Given the description of an element on the screen output the (x, y) to click on. 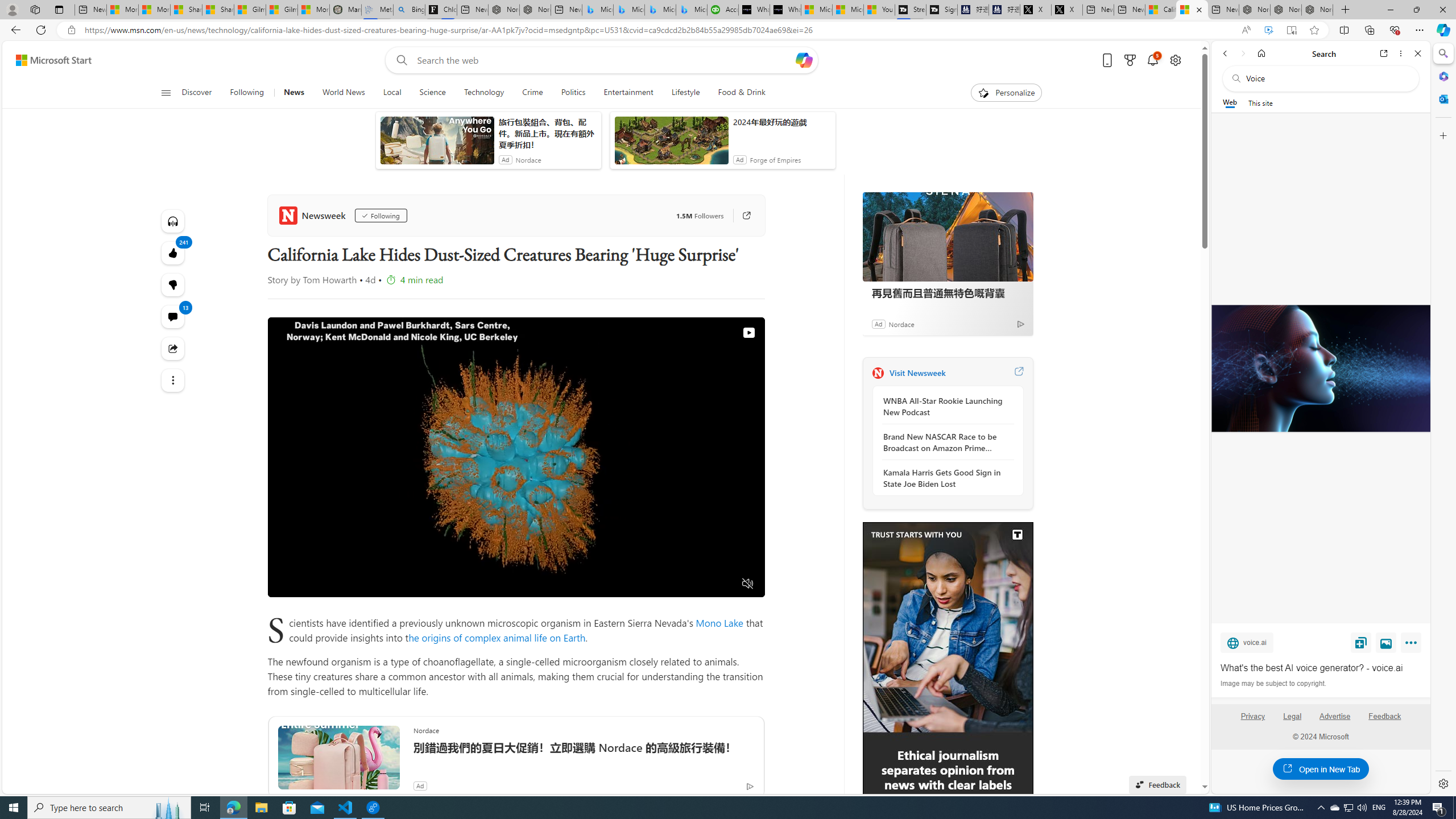
Seek Forward (330, 583)
Skip to content (49, 59)
Accounting Software for Accountants, CPAs and Bookkeepers (722, 9)
he origins of complex animal life on Earth (496, 636)
Microsoft rewards (1129, 60)
Food & Drink (741, 92)
